Given the description of an element on the screen output the (x, y) to click on. 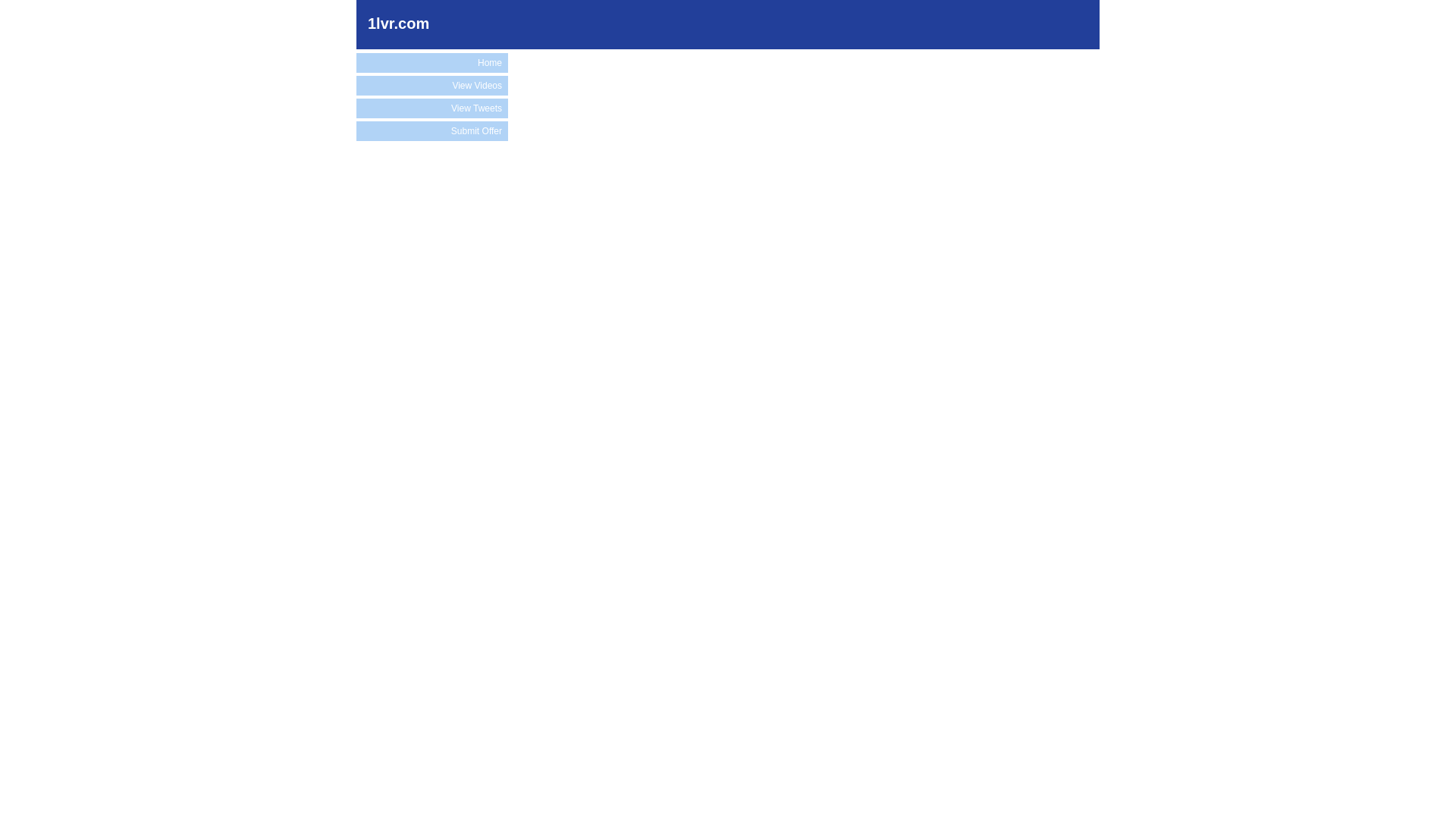
View Videos Element type: text (432, 85)
Submit Offer Element type: text (432, 131)
Home Element type: text (432, 62)
View Tweets Element type: text (432, 108)
